Given the description of an element on the screen output the (x, y) to click on. 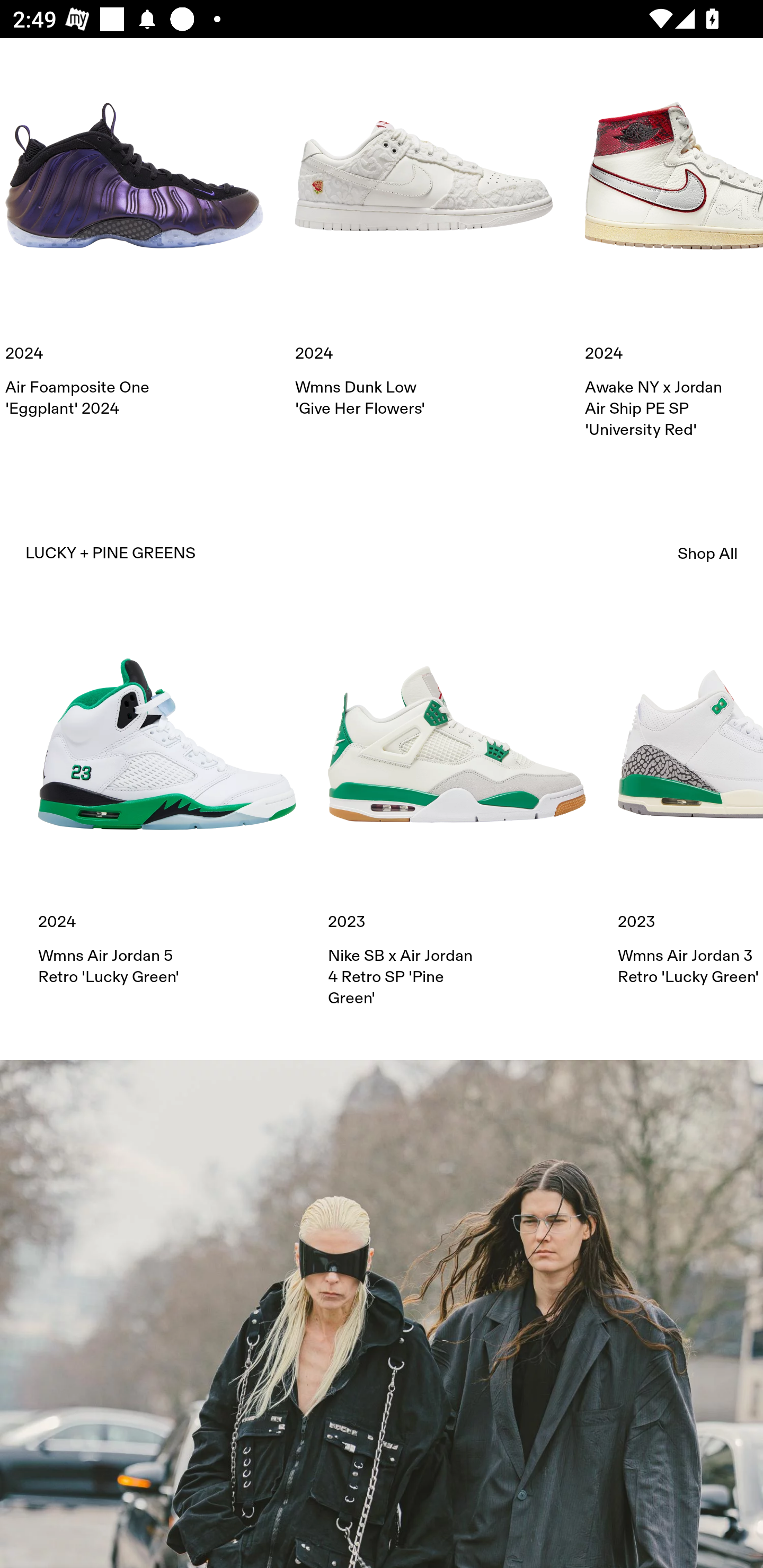
2024 Air Foamposite One 'Eggplant' 2024 (134, 233)
2024 Wmns Dunk Low 'Give Her Flowers' (424, 233)
Shop All (707, 553)
2024 Wmns Air Jordan 5 Retro 'Lucky Green' (167, 800)
2023 Nike SB x Air Jordan 4 Retro SP 'Pine Green' (456, 811)
2023 Wmns Air Jordan 3 Retro 'Lucky Green' (690, 800)
